Given the description of an element on the screen output the (x, y) to click on. 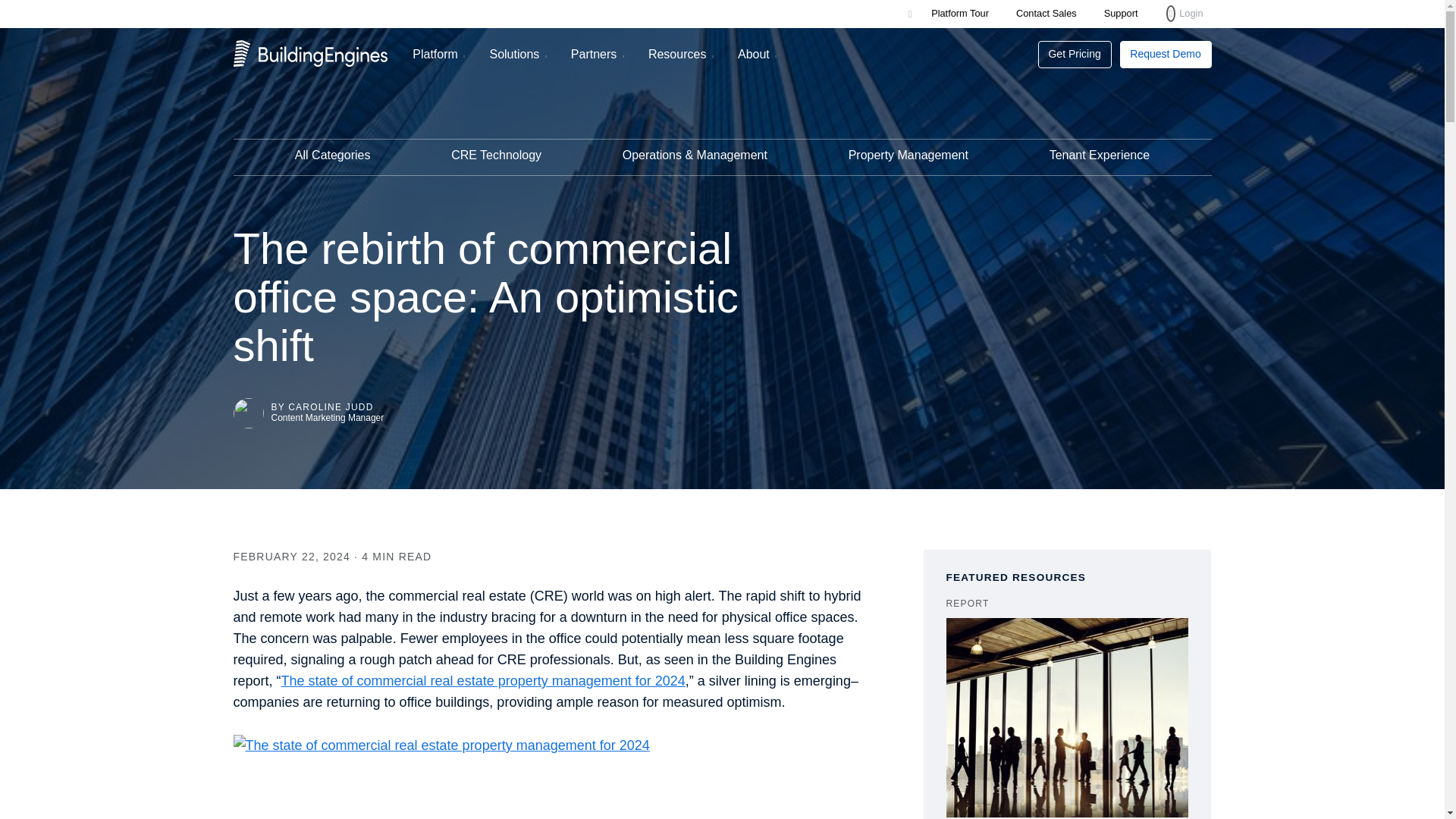
Platform (434, 54)
Solutions (513, 54)
Support (1120, 12)
Contact Sales (1046, 12)
Login (1184, 13)
Platform Tour (959, 12)
